Given the description of an element on the screen output the (x, y) to click on. 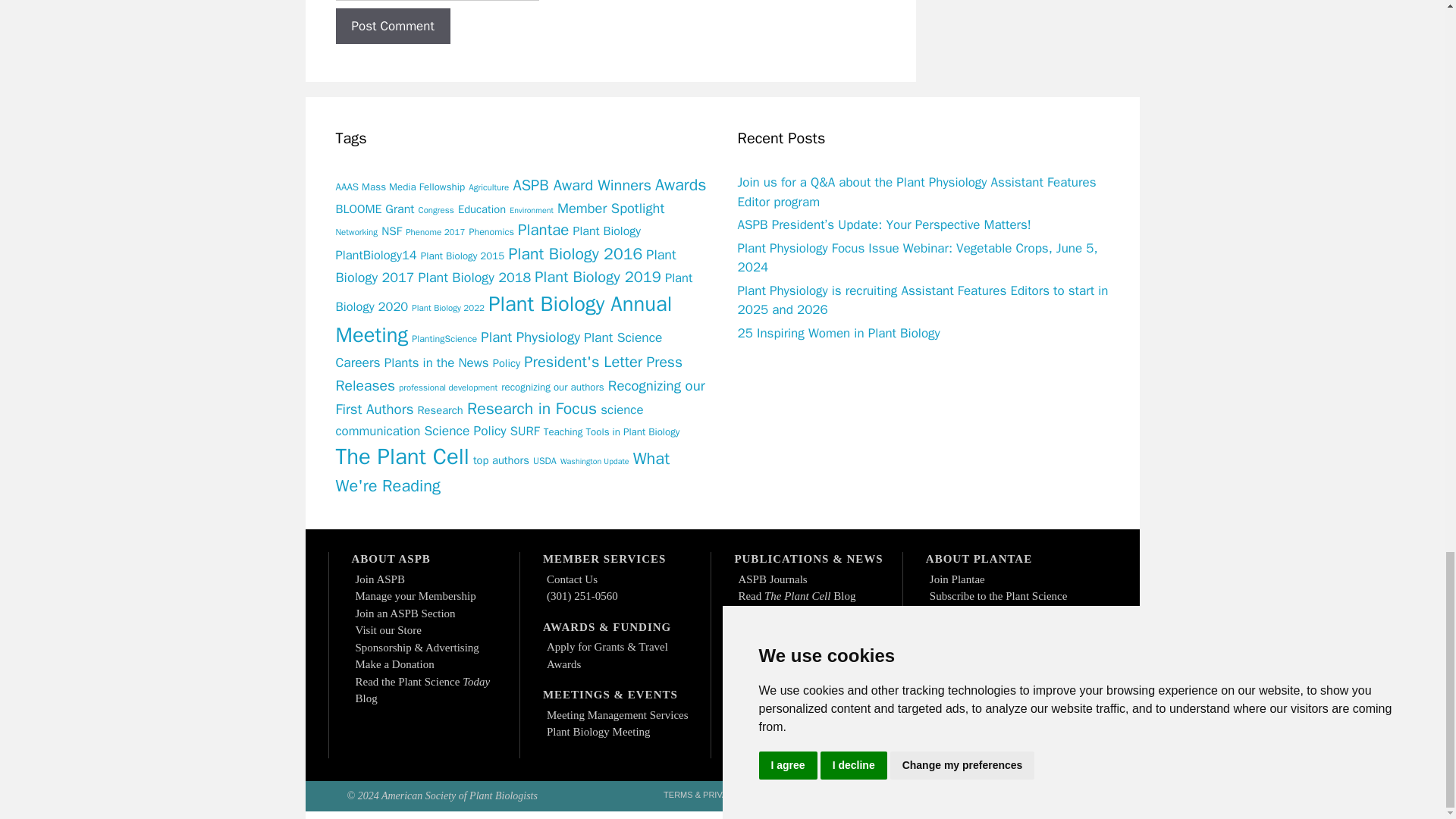
Post Comment (391, 26)
Post Comment (391, 26)
